Given the description of an element on the screen output the (x, y) to click on. 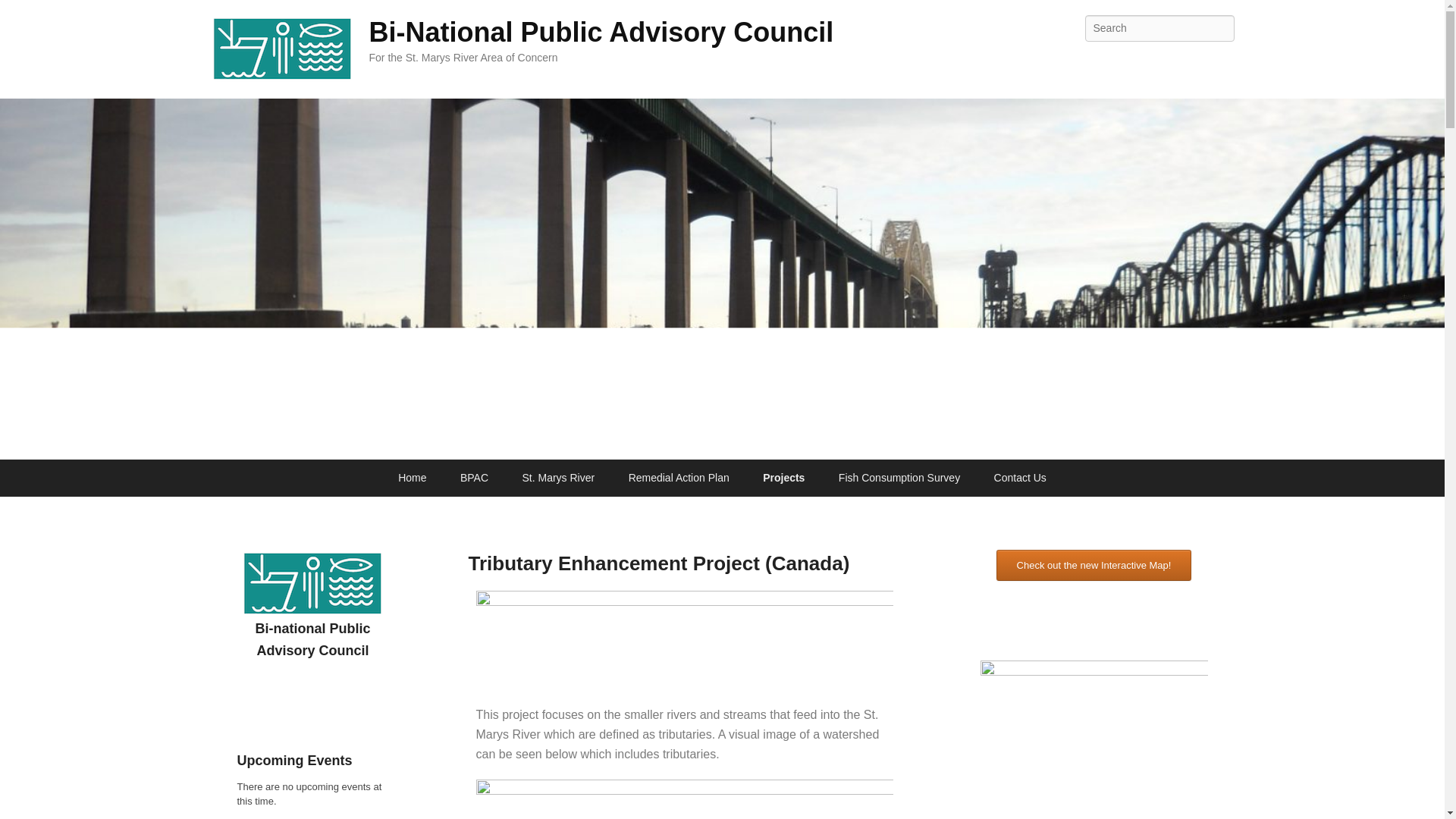
BPAC (474, 477)
Bi-National Public Advisory Council (600, 31)
Contact Us (1019, 477)
St. Marys River (558, 477)
Bi-National Public Advisory Council (600, 31)
Search (24, 14)
Instagram (1221, 62)
Facebook (1154, 62)
